Given the description of an element on the screen output the (x, y) to click on. 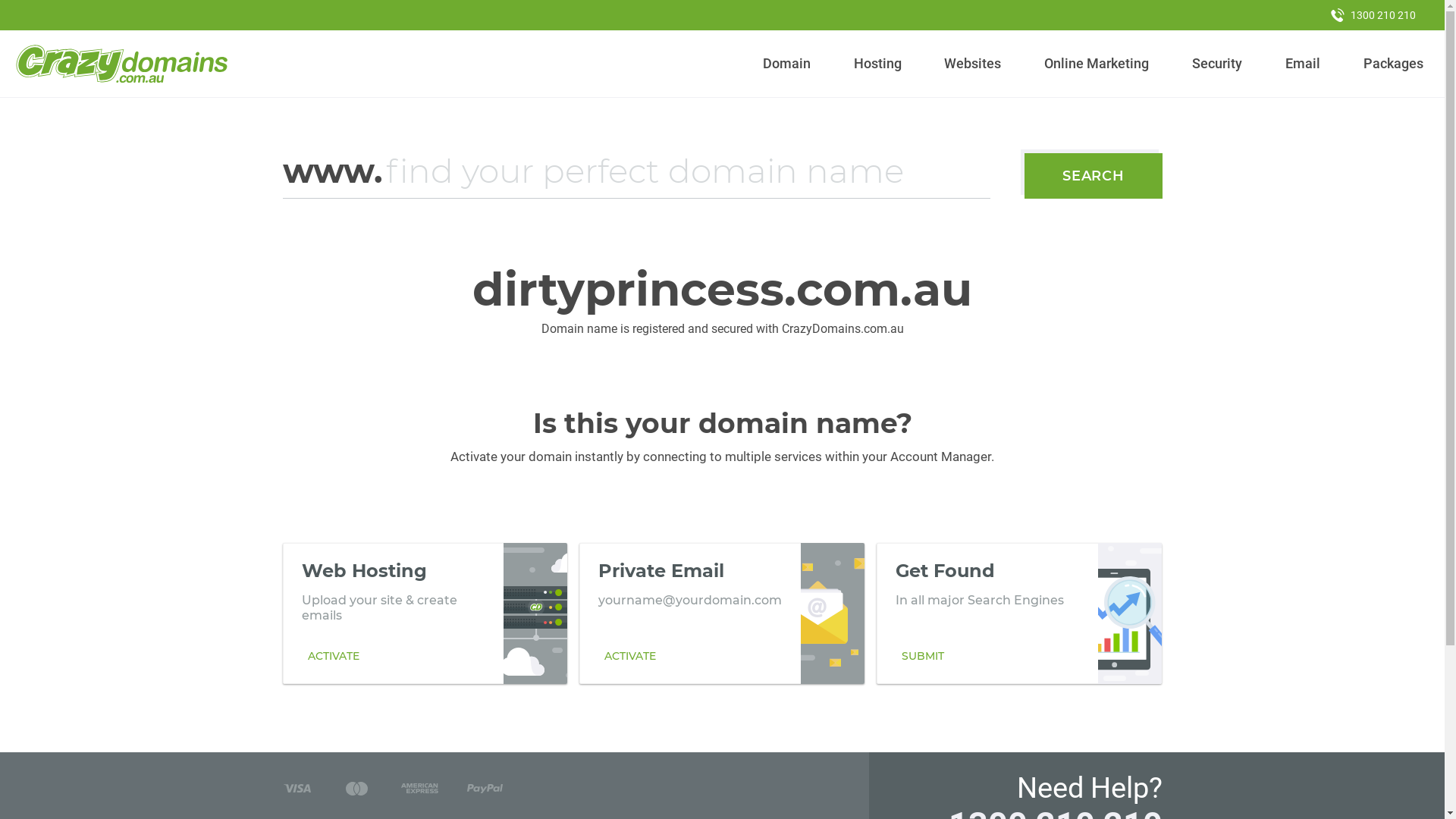
Websites Element type: text (972, 63)
Hosting Element type: text (877, 63)
Private Email
yourname@yourdomain.com
ACTIVATE Element type: text (721, 613)
Security Element type: text (1217, 63)
Web Hosting
Upload your site & create emails
ACTIVATE Element type: text (424, 613)
1300 210 210 Element type: text (1373, 15)
Online Marketing Element type: text (1096, 63)
Email Element type: text (1302, 63)
Domain Element type: text (786, 63)
SEARCH Element type: text (1092, 175)
Packages Element type: text (1392, 63)
Get Found
In all major Search Engines
SUBMIT Element type: text (1018, 613)
